Given the description of an element on the screen output the (x, y) to click on. 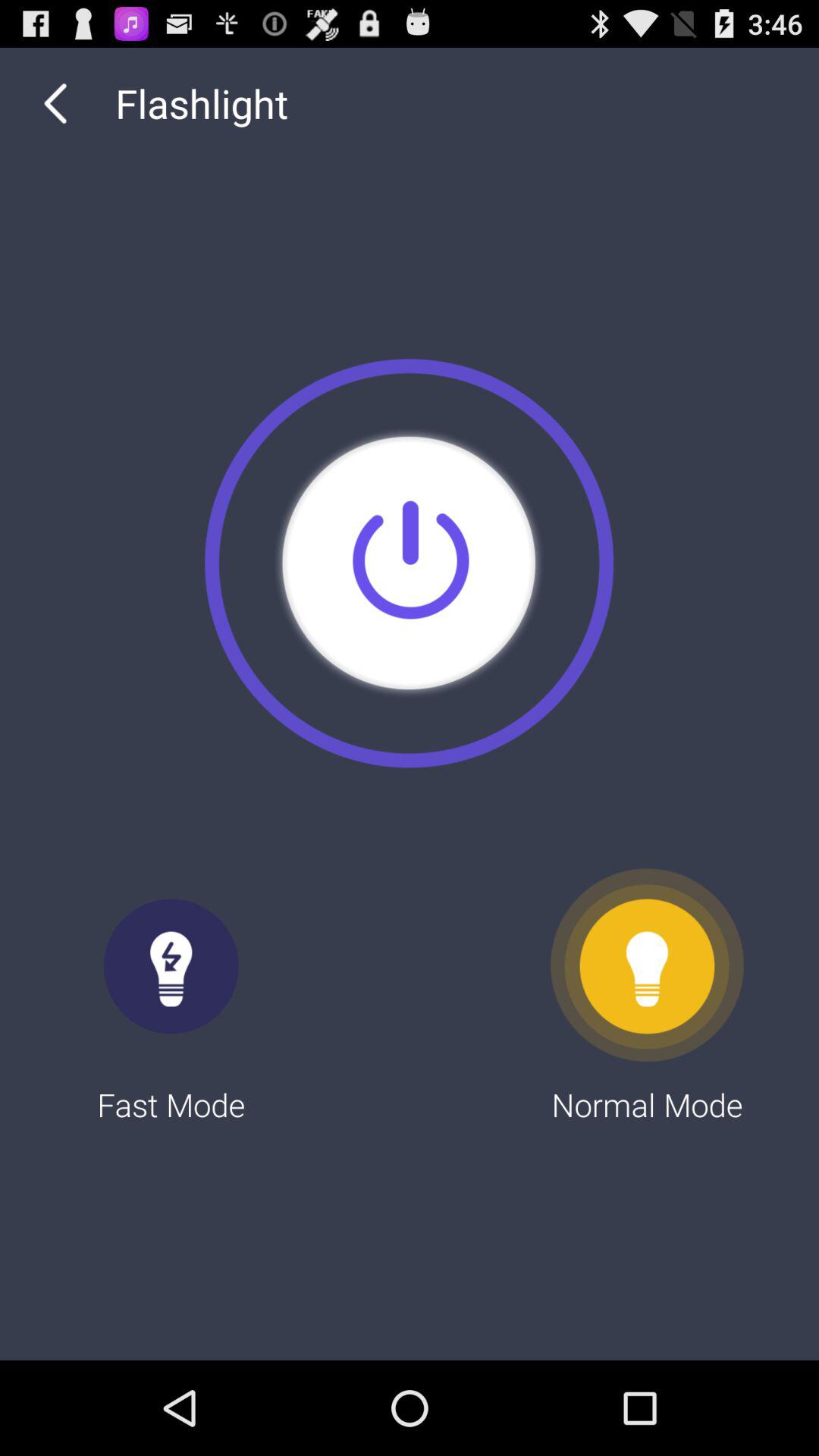
turn off the item next to flashlight item (55, 103)
